Given the description of an element on the screen output the (x, y) to click on. 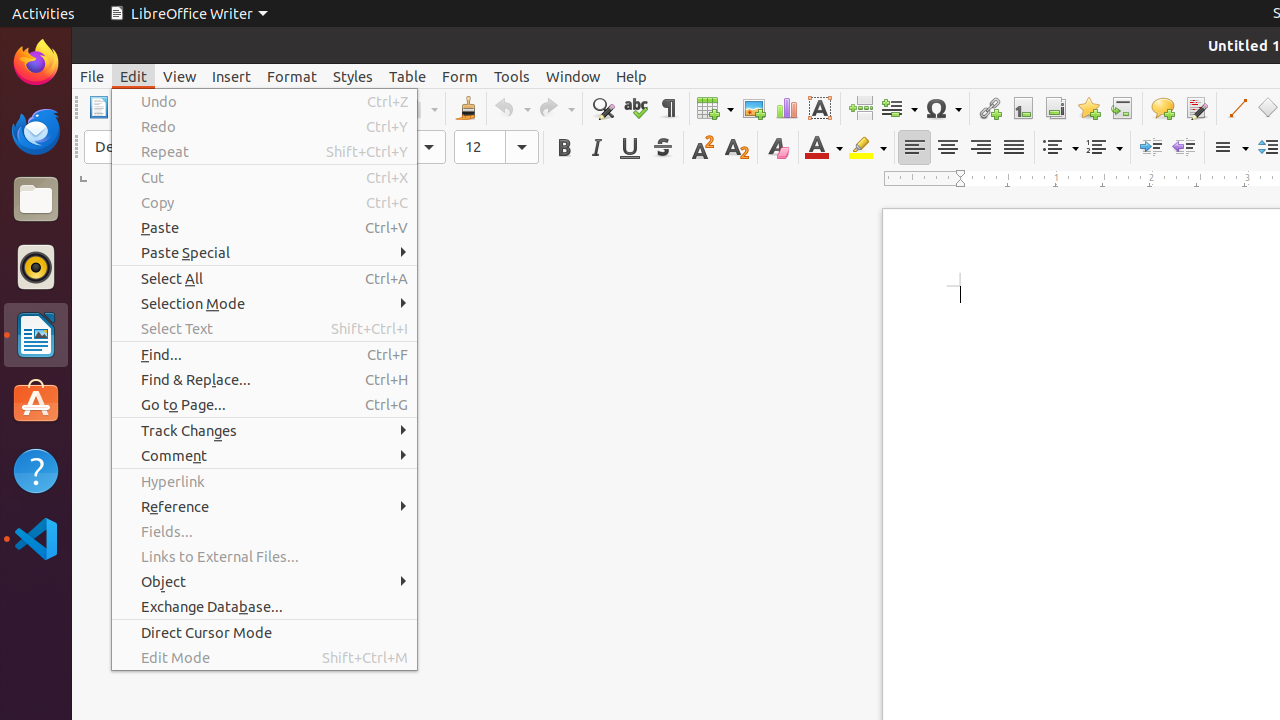
LibreOffice Writer Element type: menu (188, 13)
Links to External Files... Element type: menu-item (264, 556)
Highlight Color Element type: push-button (868, 147)
Table Element type: menu (407, 76)
Thunderbird Mail Element type: push-button (36, 131)
